Given the description of an element on the screen output the (x, y) to click on. 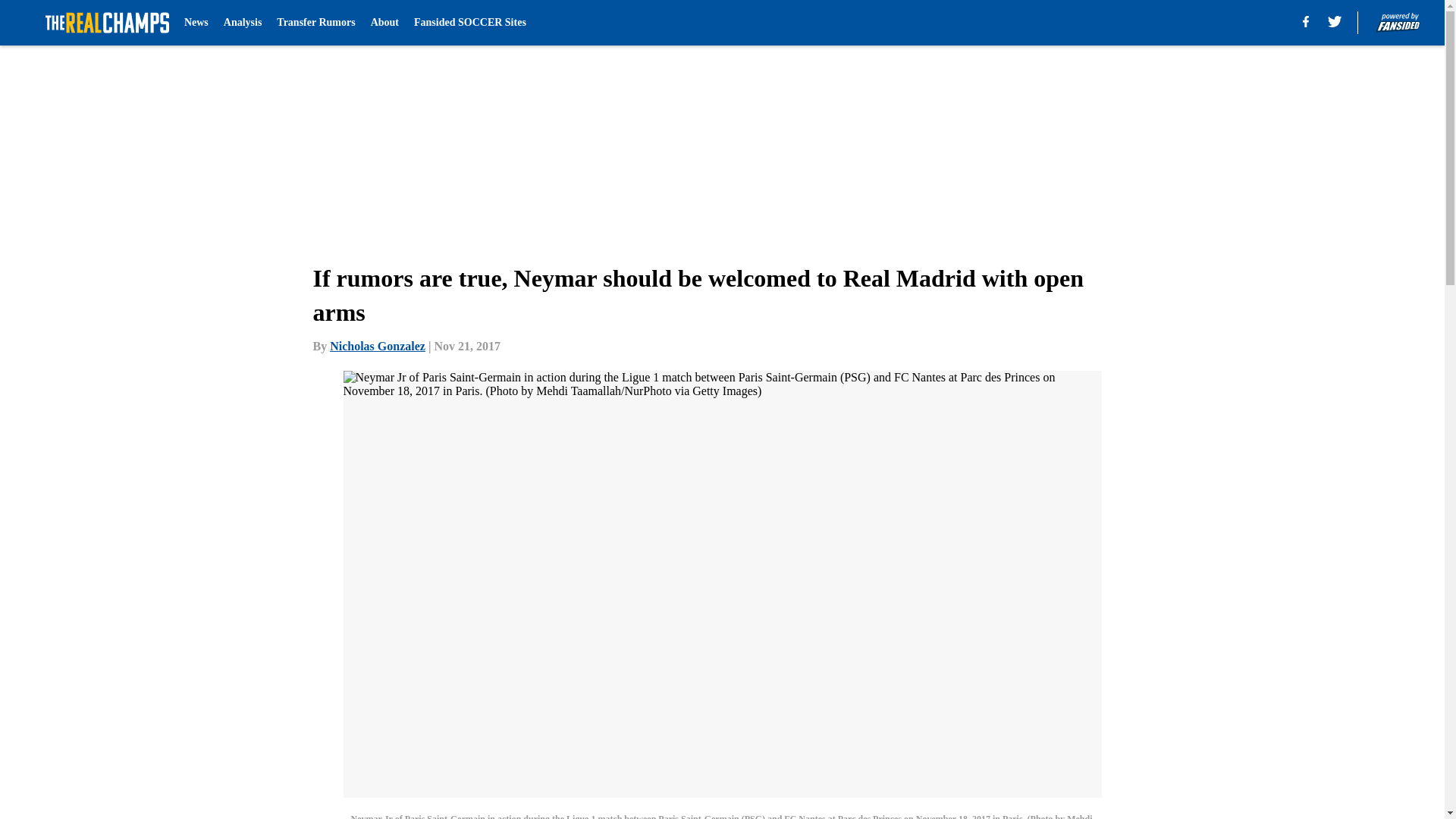
About (384, 22)
News (196, 22)
Analysis (243, 22)
Transfer Rumors (315, 22)
Fansided SOCCER Sites (469, 22)
Nicholas Gonzalez (377, 345)
